Given the description of an element on the screen output the (x, y) to click on. 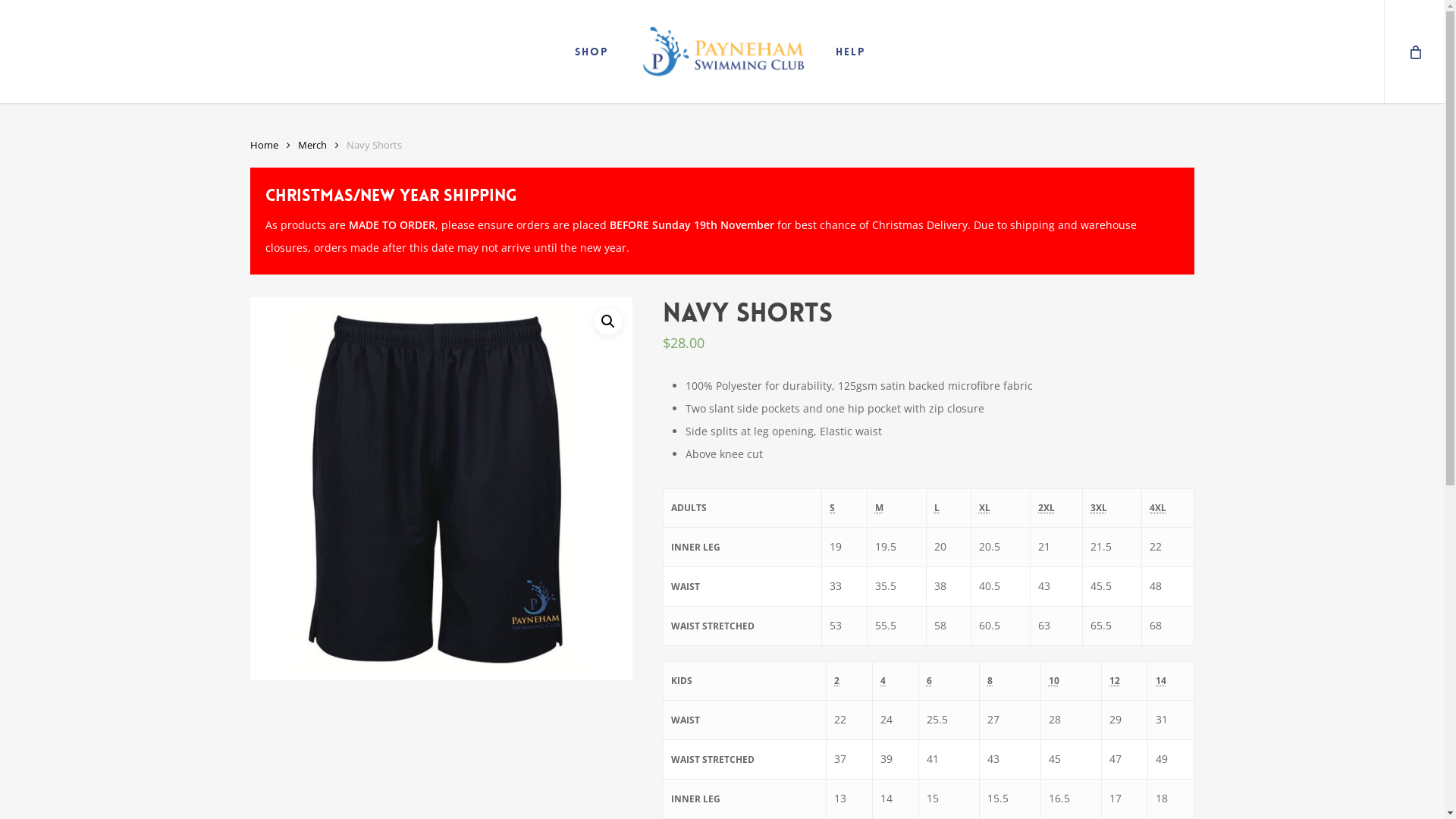
Home Element type: text (264, 144)
Merch Element type: text (312, 144)
14 Element type: hover (441, 488)
Shop Element type: text (591, 51)
Help Element type: text (850, 51)
